Given the description of an element on the screen output the (x, y) to click on. 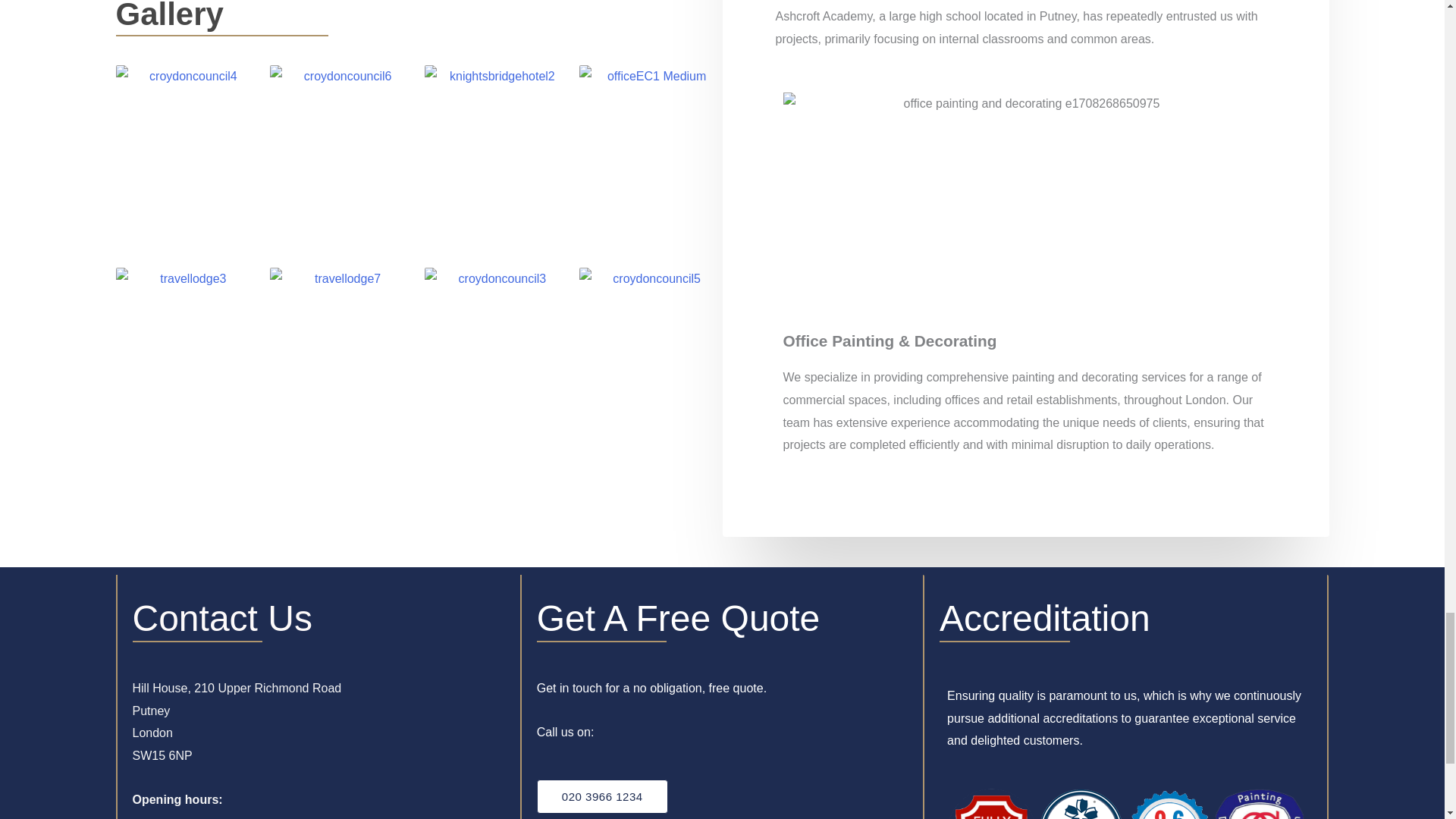
travellodge3 (187, 362)
croydoncouncil6 (341, 160)
croydoncouncil5 (650, 362)
knightsbridgehotel2 (496, 160)
croydoncouncil3 (496, 362)
travellodge7 (341, 362)
croydoncouncil4 (187, 160)
officeEC1 Medium (650, 160)
020 3966 1234 (602, 796)
